Given the description of an element on the screen output the (x, y) to click on. 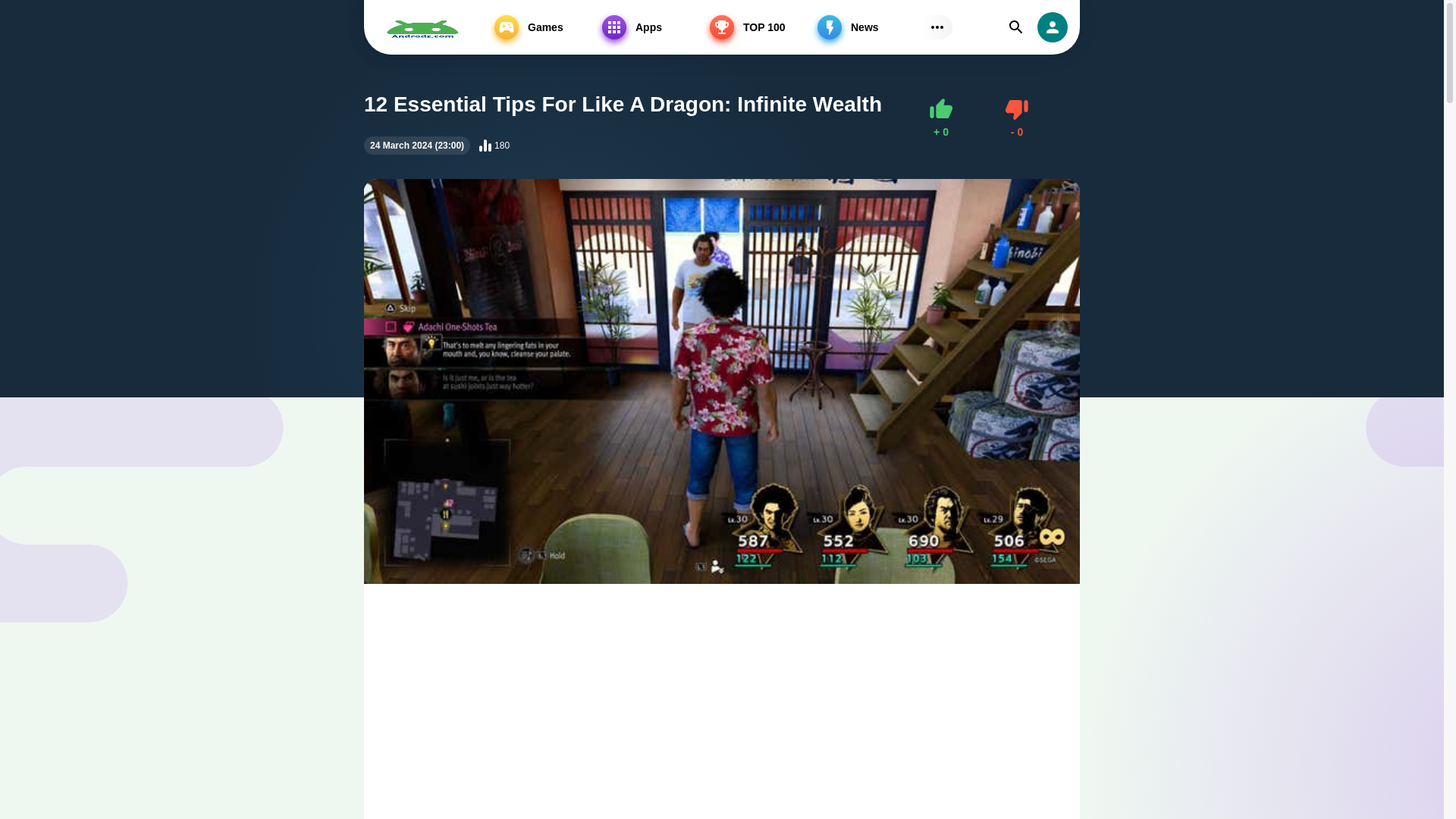
Apps (652, 27)
Home (394, 36)
Authorization (1051, 27)
TOP 100 (759, 27)
Dislike (1016, 118)
Find (1015, 27)
Like (940, 118)
Games (1016, 118)
